Given the description of an element on the screen output the (x, y) to click on. 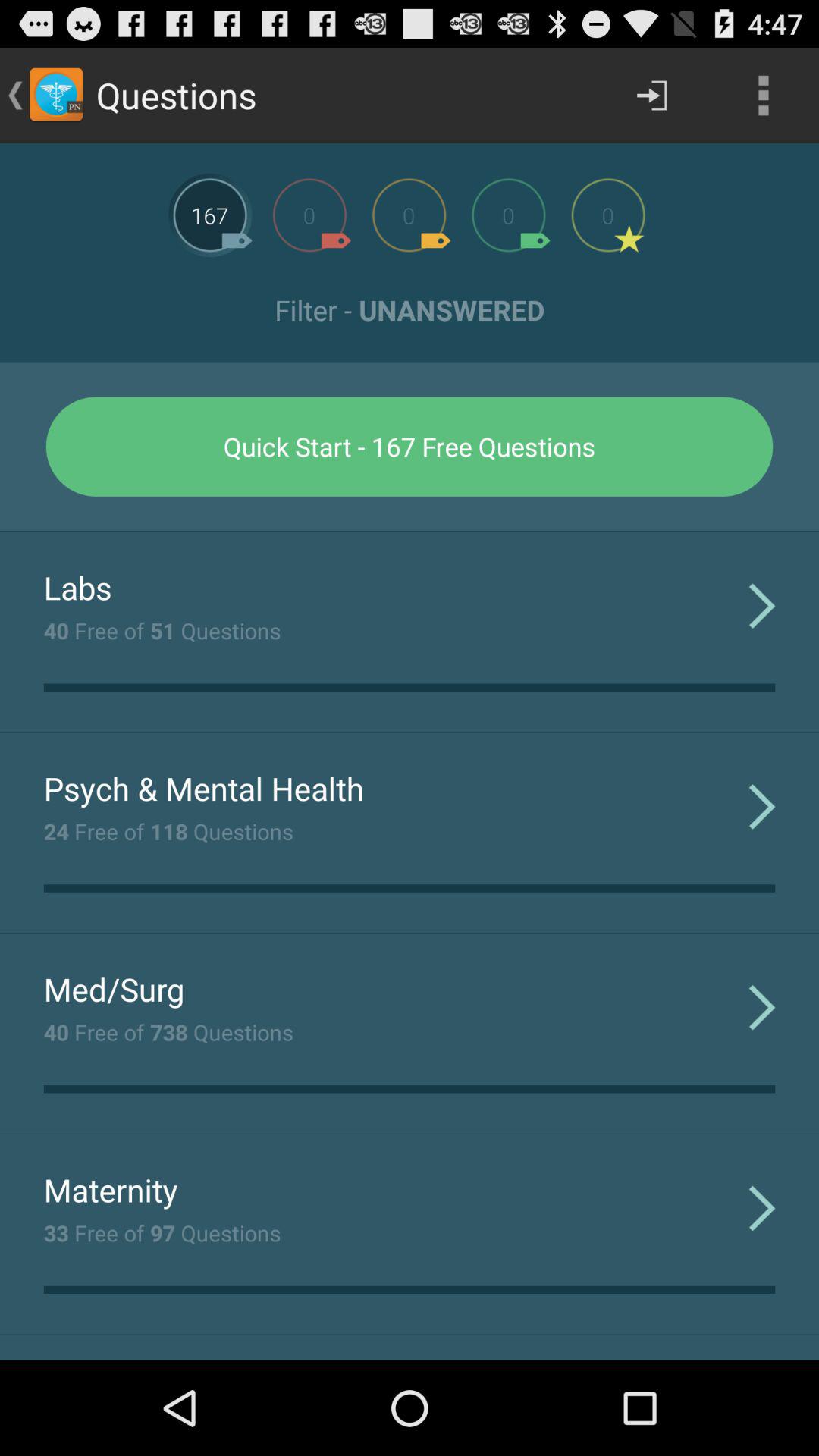
tap the icon below the filter - unanswered item (409, 446)
